Given the description of an element on the screen output the (x, y) to click on. 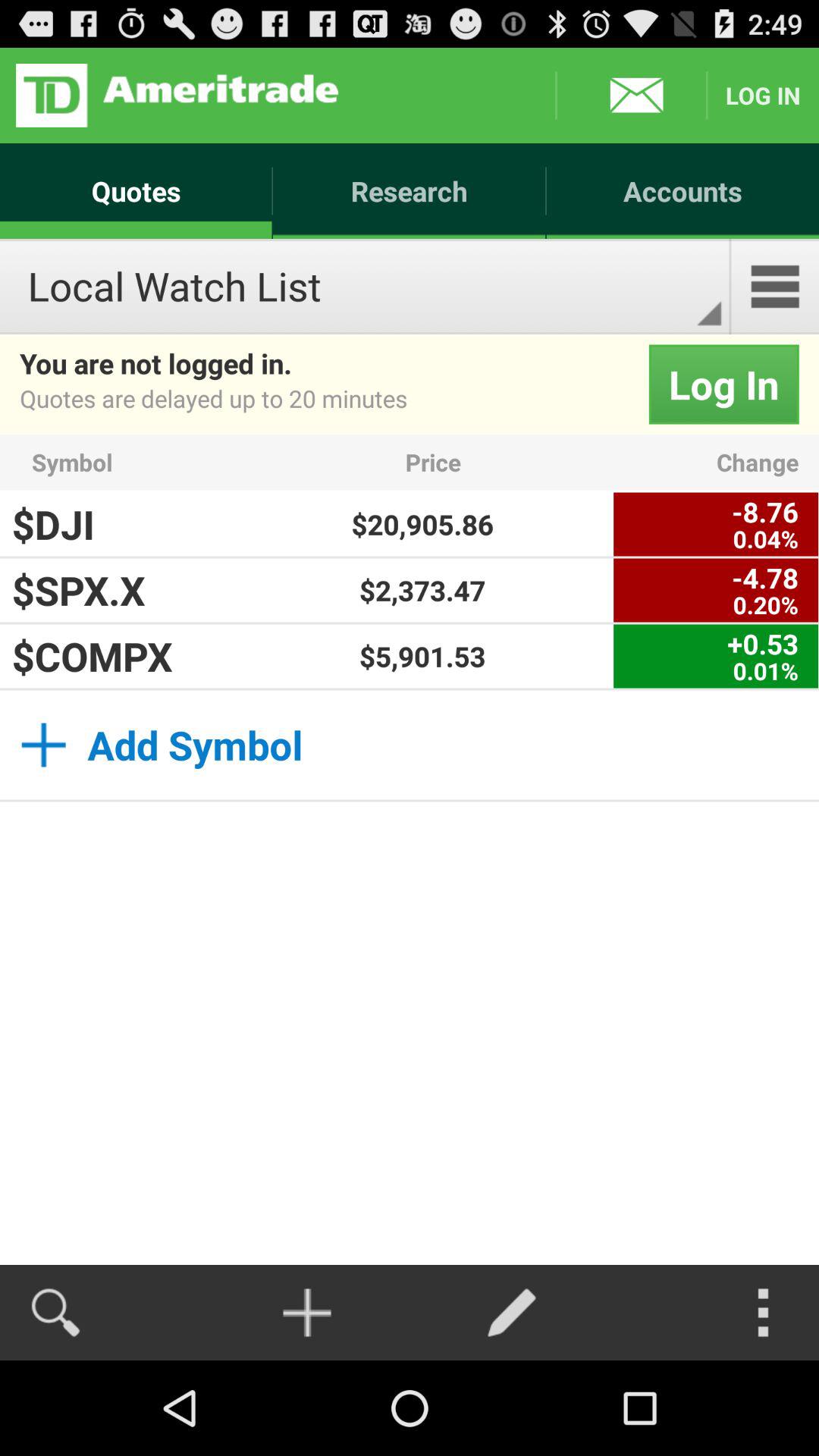
click the $spx.x item (111, 589)
